Given the description of an element on the screen output the (x, y) to click on. 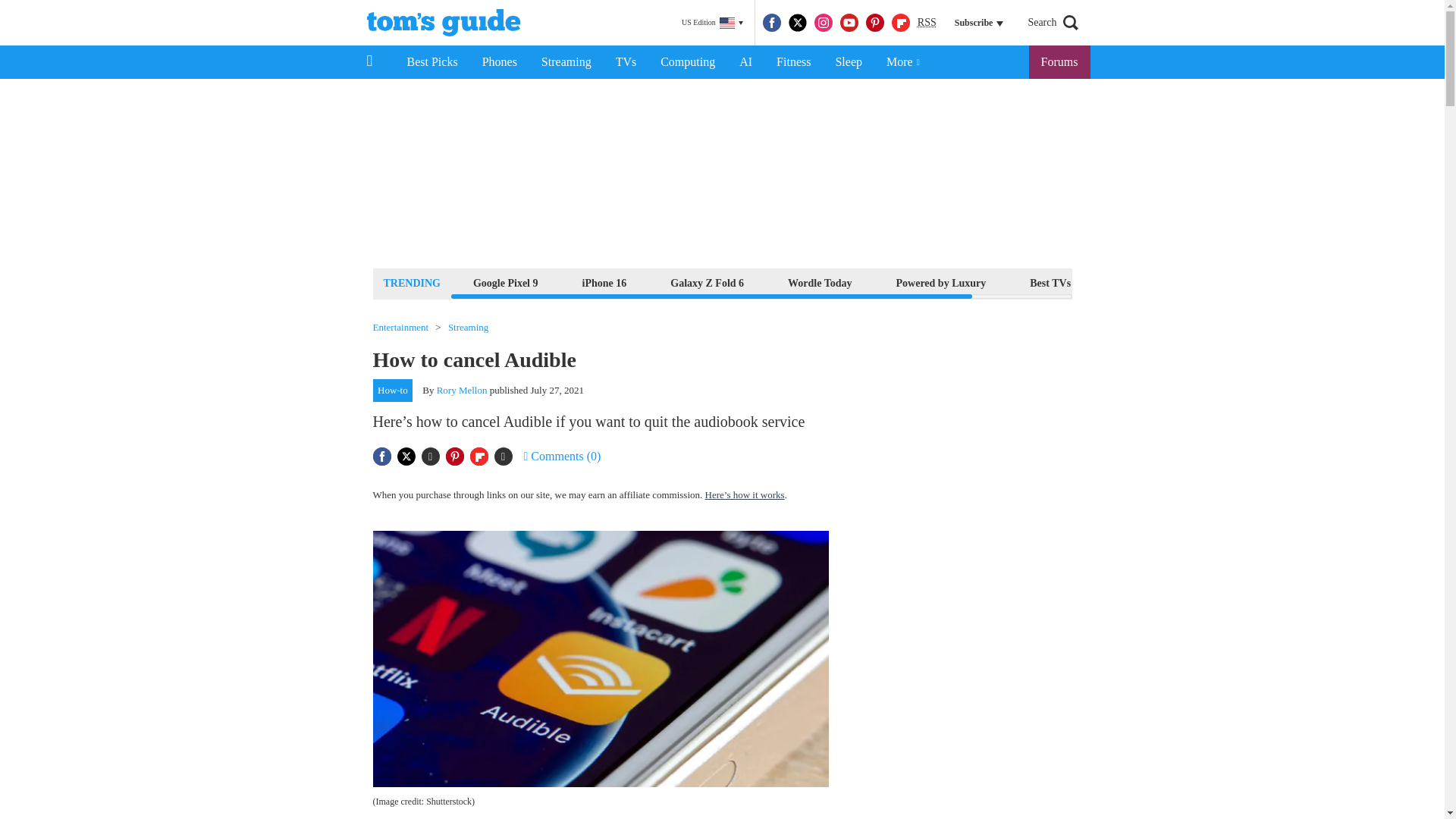
Fitness (793, 61)
Best Picks (431, 61)
Computing (686, 61)
TVs (626, 61)
Sleep (848, 61)
US Edition (712, 22)
AI (745, 61)
Phones (499, 61)
RSS (926, 22)
Streaming (566, 61)
